Given the description of an element on the screen output the (x, y) to click on. 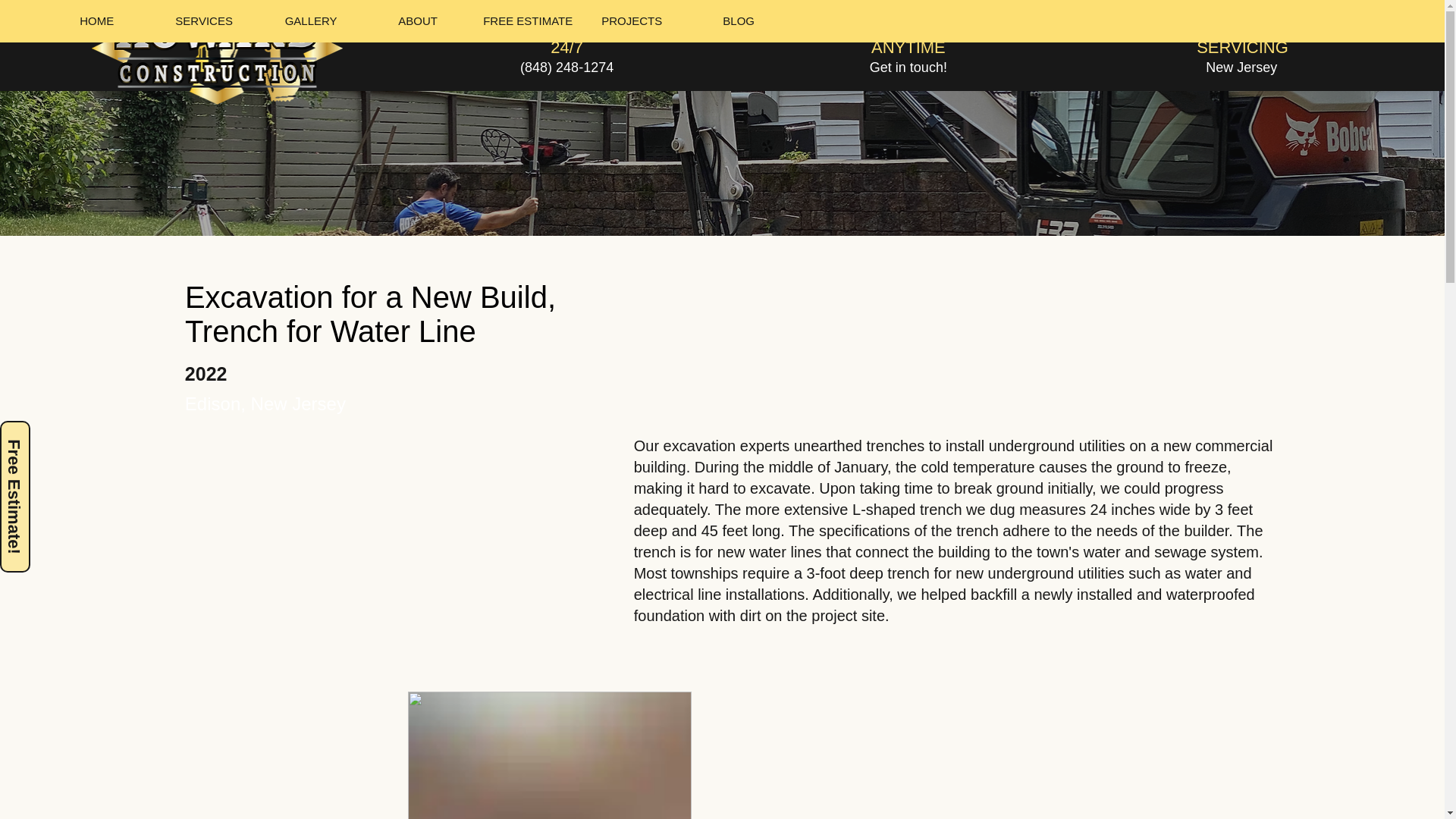
Get in touch! (908, 67)
ANYTIME (907, 46)
GALLERY (310, 21)
HOME (96, 21)
ABOUT (417, 21)
CALL US  (566, 30)
EMAIL US  (908, 30)
SERVICES (203, 21)
